Given the description of an element on the screen output the (x, y) to click on. 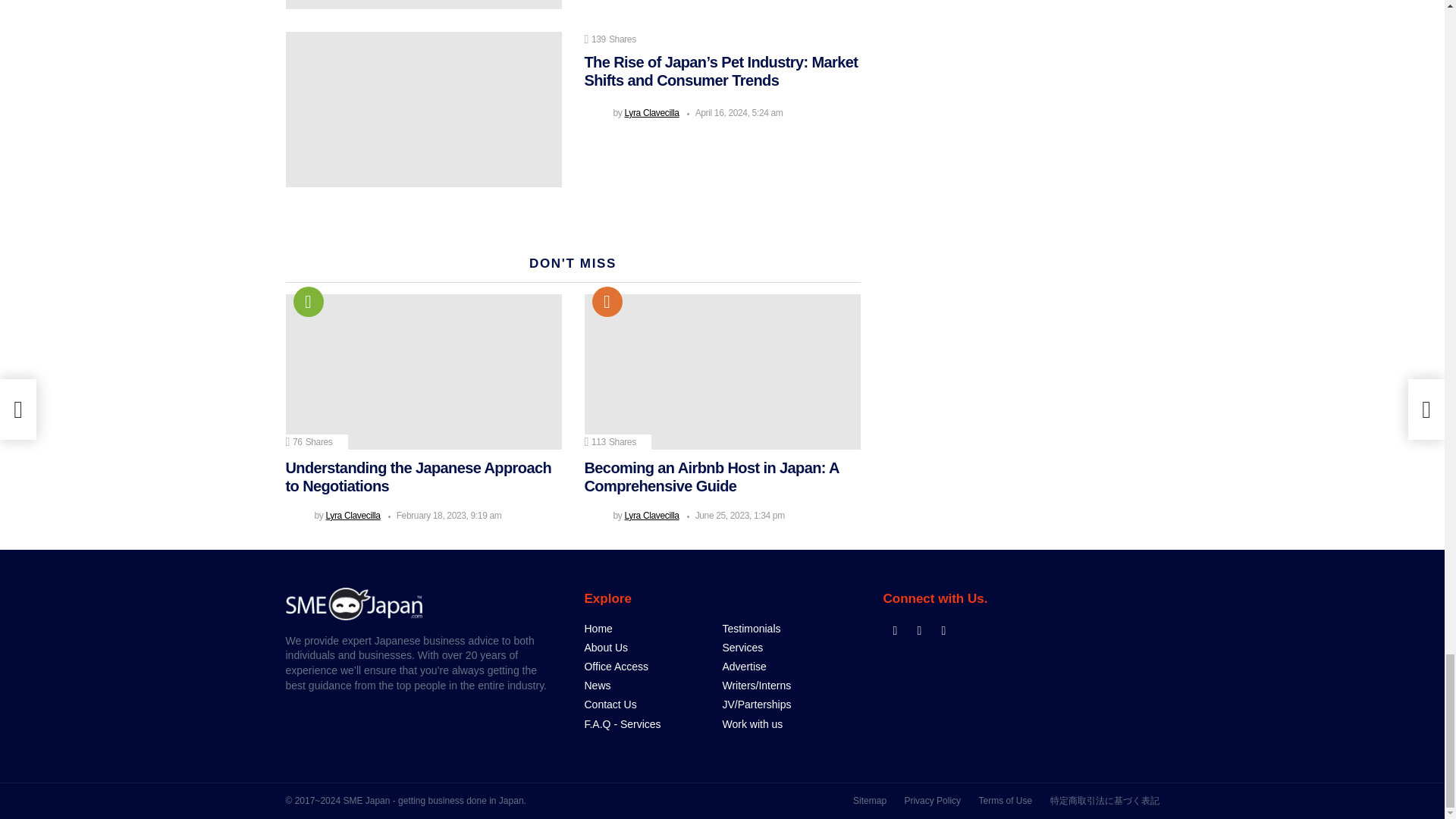
Why Use Line for Your Japanese Business (422, 4)
Posts by Lyra Clavecilla (651, 112)
Understanding the Japanese Approach to Negotiations (422, 371)
Becoming an Airbnb Host in Japan: A Comprehensive Guide (721, 371)
Trending (307, 301)
Posts by Lyra Clavecilla (352, 515)
